Given the description of an element on the screen output the (x, y) to click on. 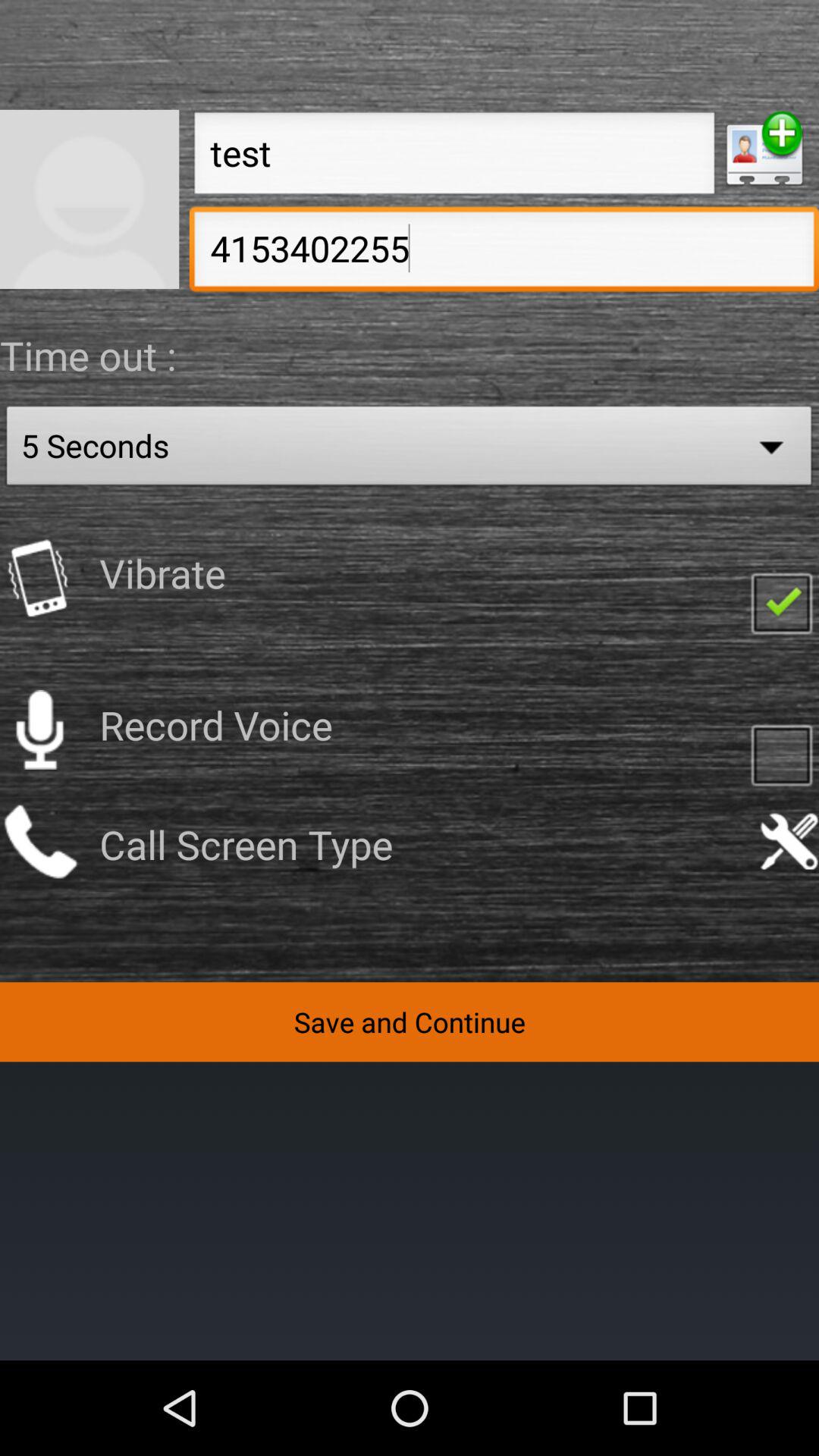
check here if you would like to record your voice (781, 753)
